Given the description of an element on the screen output the (x, y) to click on. 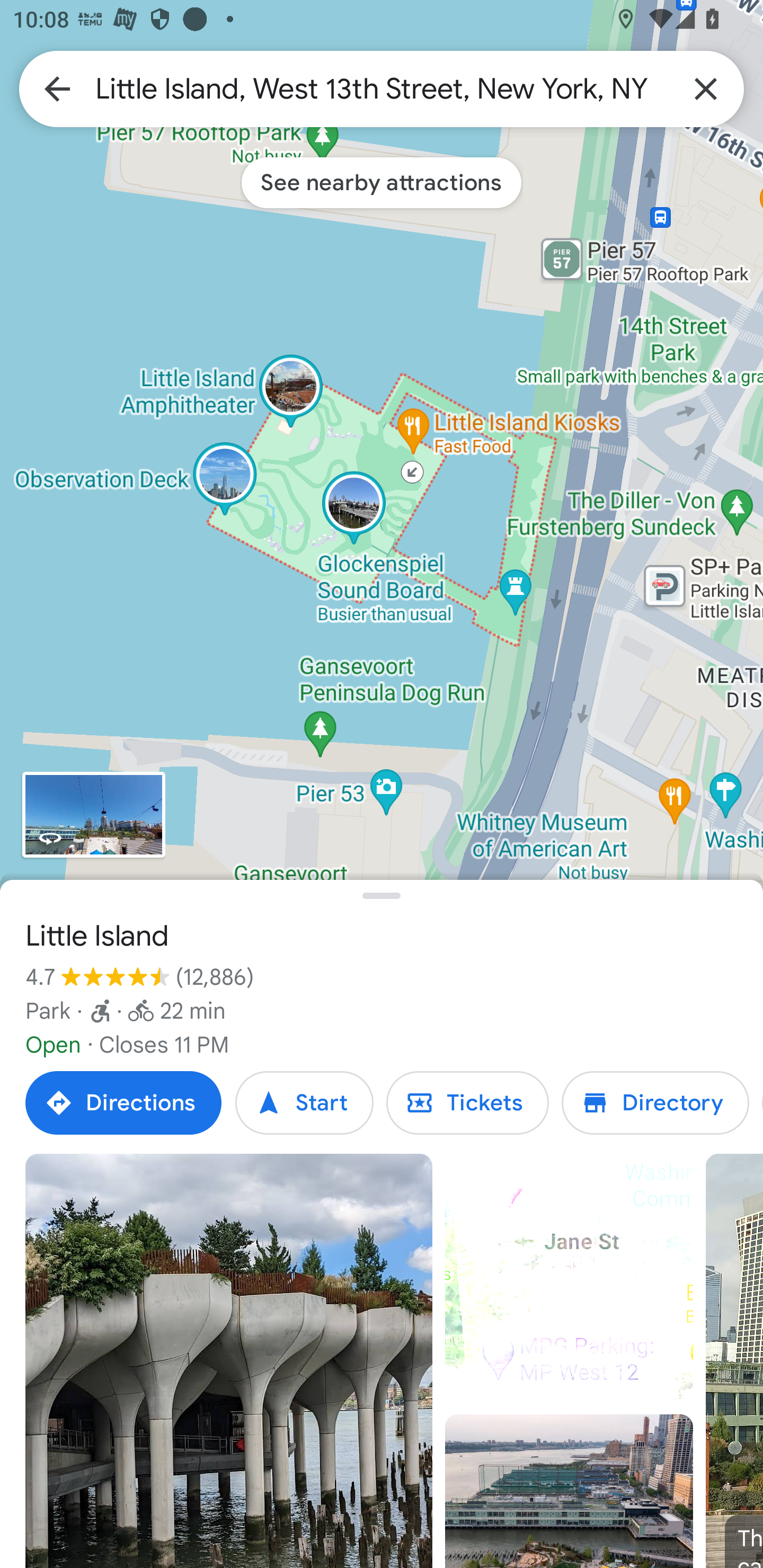
Back (57, 88)
Little Island, West 13th Street, New York, NY (381, 88)
Clear (705, 88)
See nearby attractions (381, 182)
View Street view imagery for Little Island (93, 814)
Start Start Start (304, 1102)
Tickets (467, 1102)
Directory Directory Directory (655, 1102)
Photo (228, 1361)
Video (568, 1277)
Photo (568, 1491)
